Given the description of an element on the screen output the (x, y) to click on. 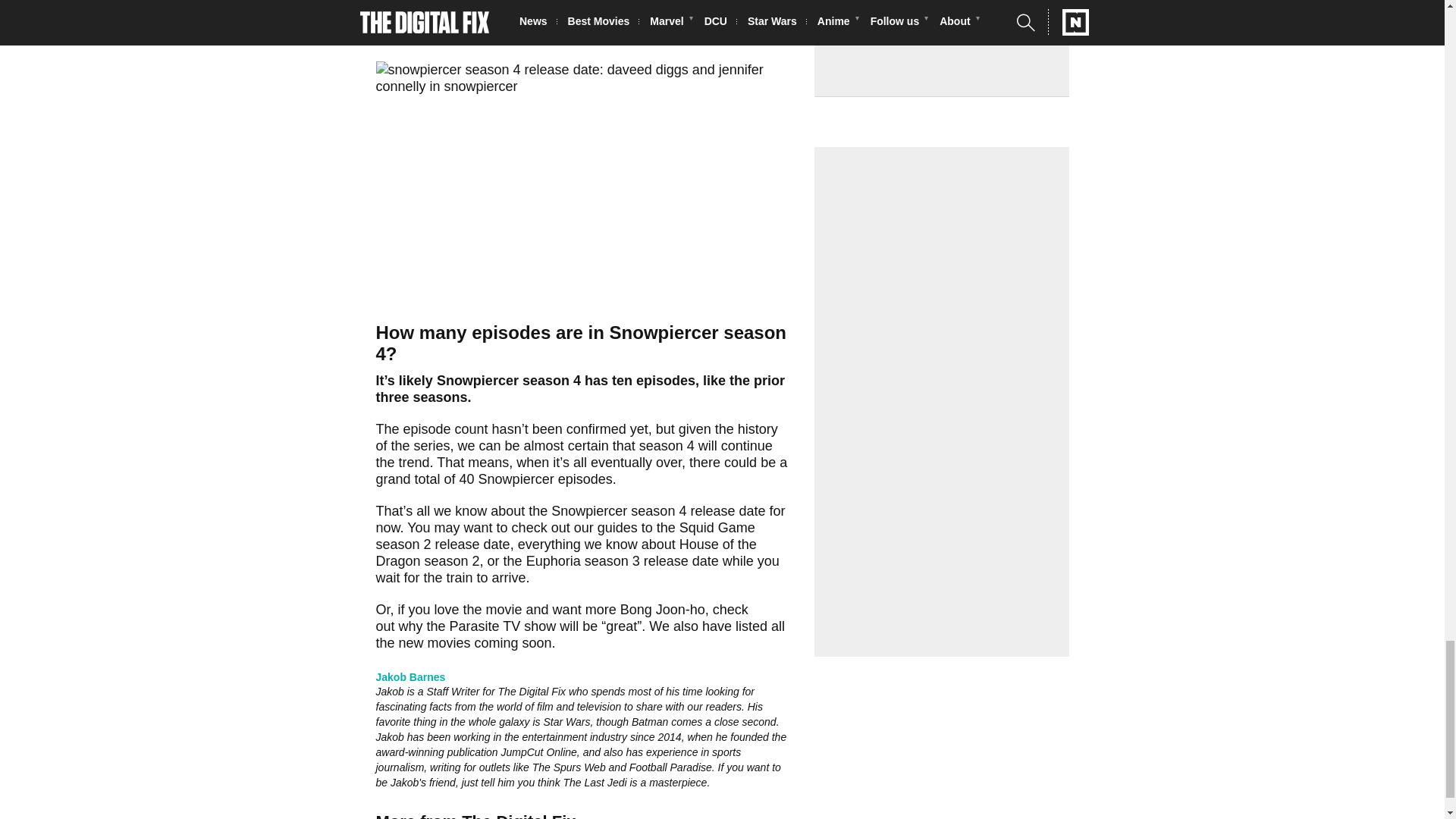
Squid Game season 2 release date (565, 536)
House of the Dragon season 2 (566, 552)
